Given the description of an element on the screen output the (x, y) to click on. 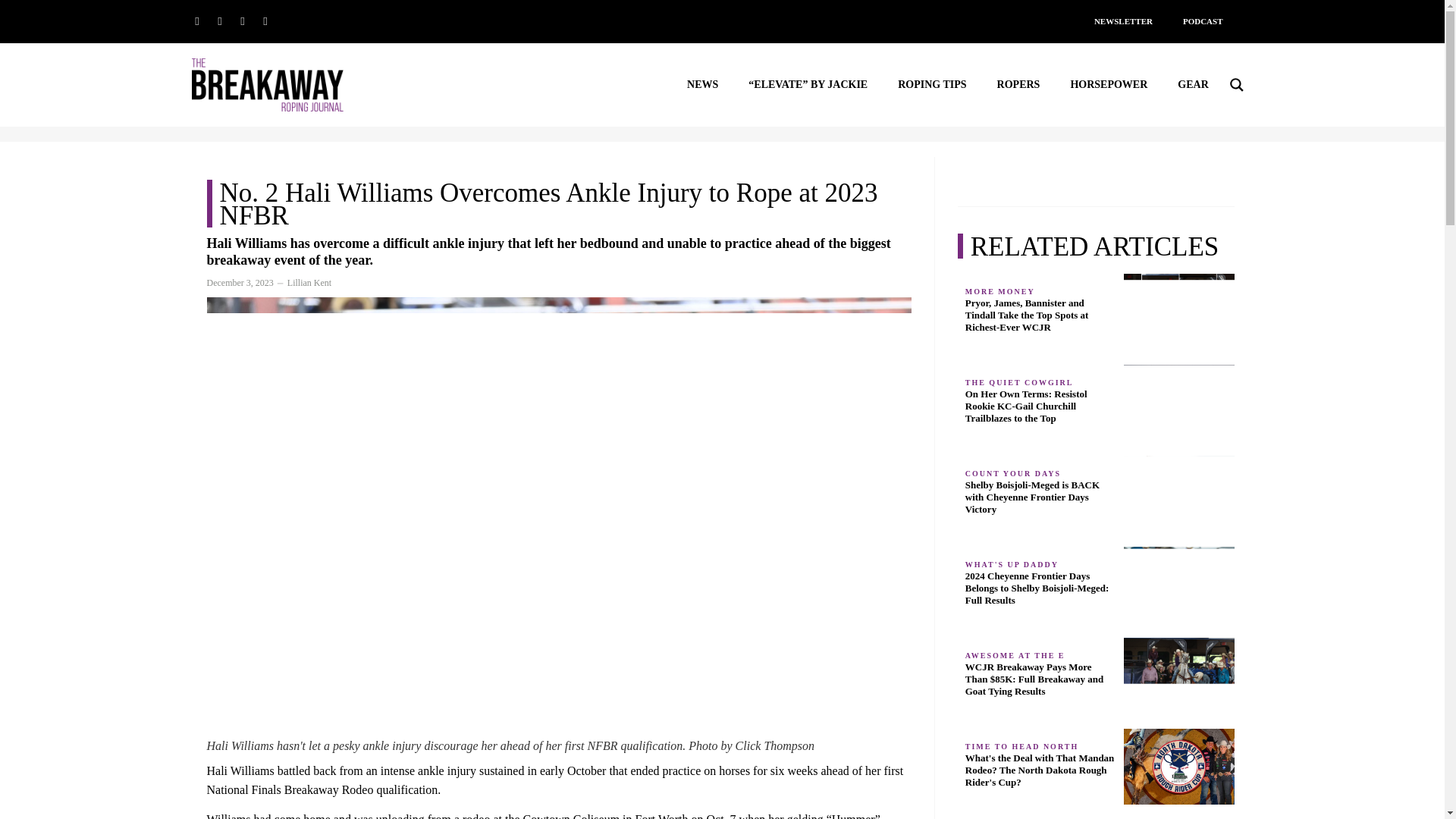
NEWSLETTER (1122, 21)
PODCAST (1203, 21)
ROPING TIPS (932, 85)
HORSEPOWER (1108, 85)
ROPERS (1019, 85)
